Given the description of an element on the screen output the (x, y) to click on. 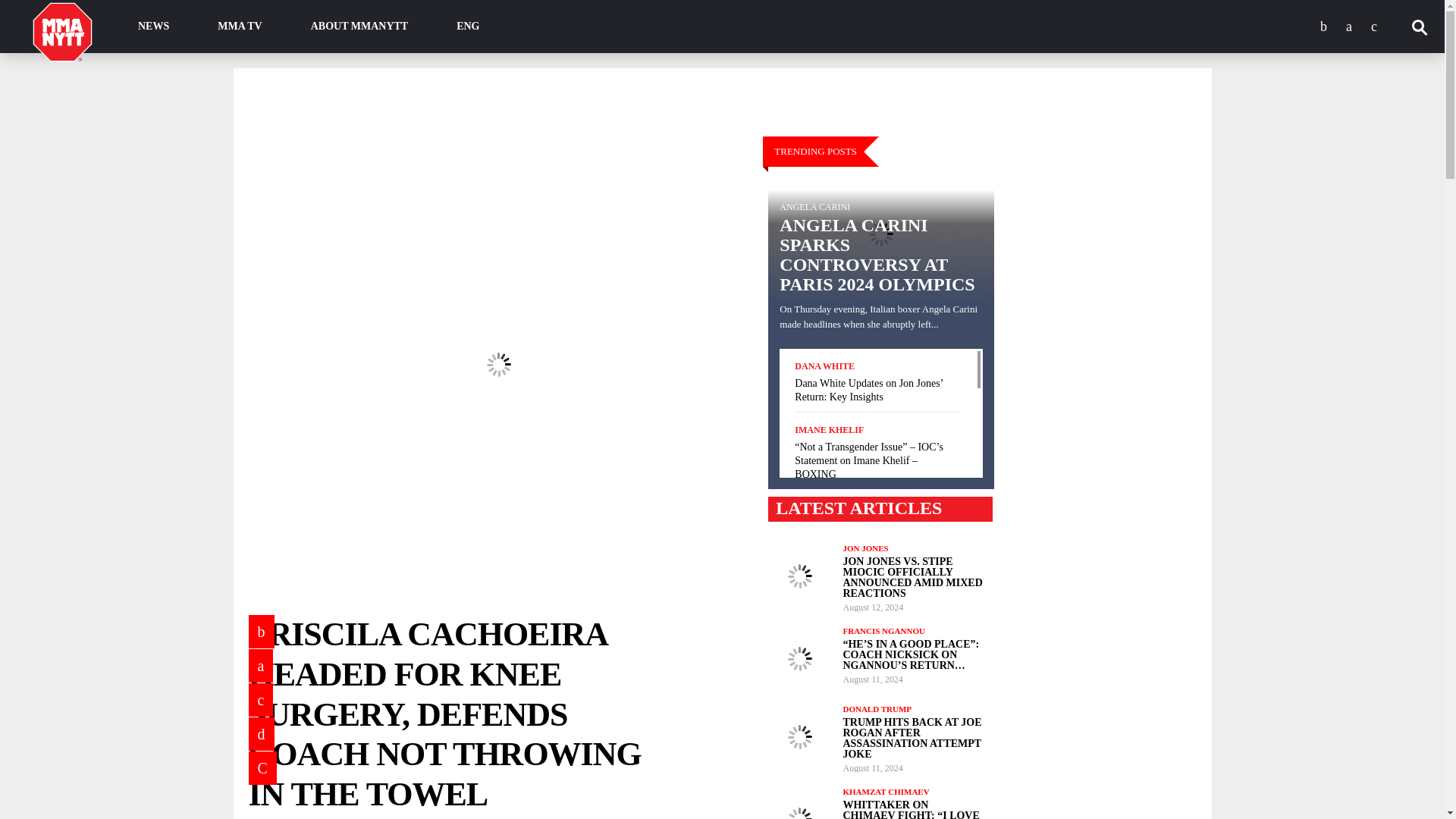
ENG (467, 26)
ENG (467, 26)
About MMAnytt (359, 26)
MMA TV (239, 26)
MMA TV (239, 26)
News (153, 26)
NEWS (153, 26)
ABOUT MMANYTT (359, 26)
